Given the description of an element on the screen output the (x, y) to click on. 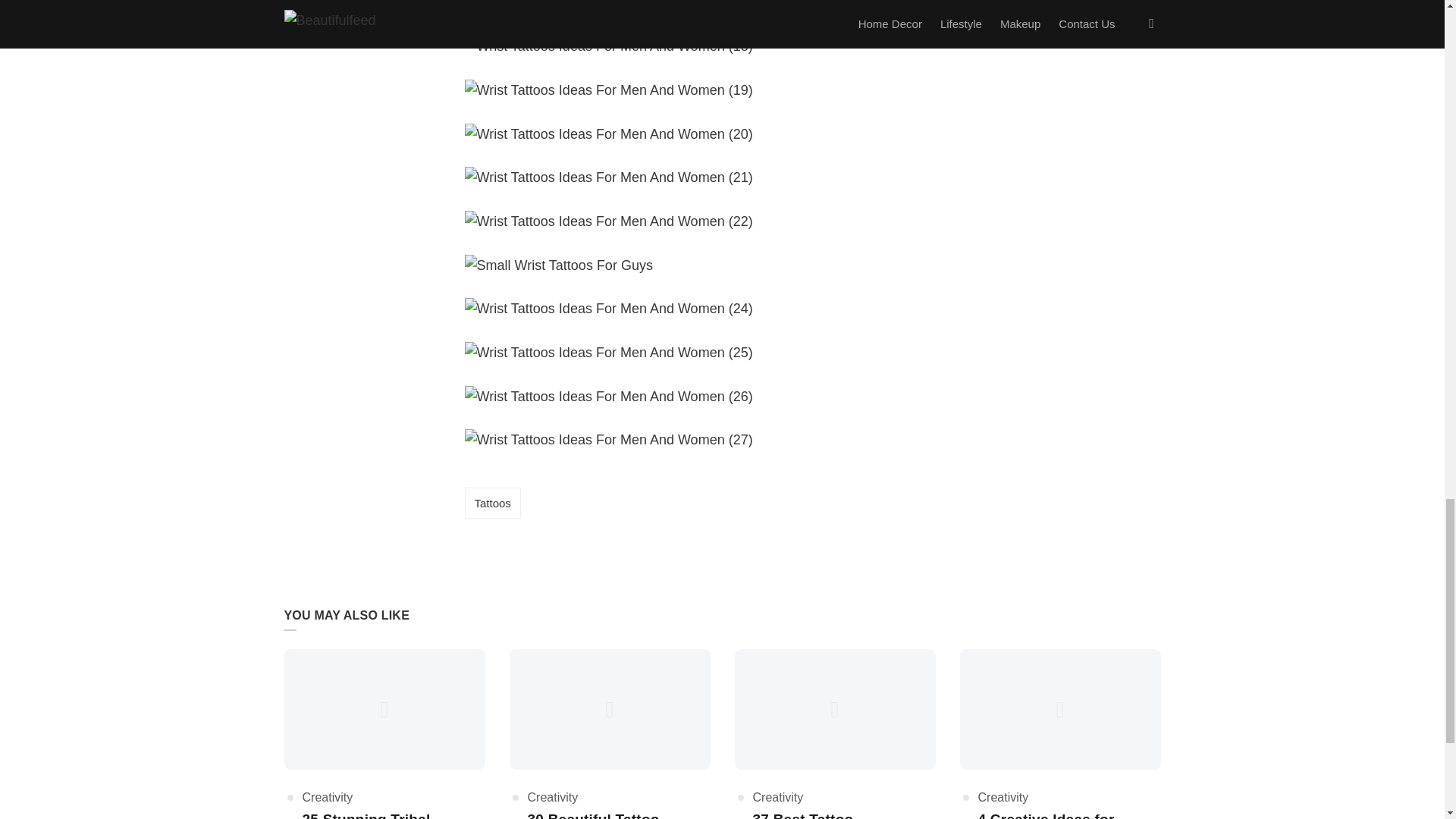
Creativity (777, 797)
Creativity (326, 797)
Creativity (552, 797)
Creativity (1003, 797)
Tattoos (491, 502)
